Given the description of an element on the screen output the (x, y) to click on. 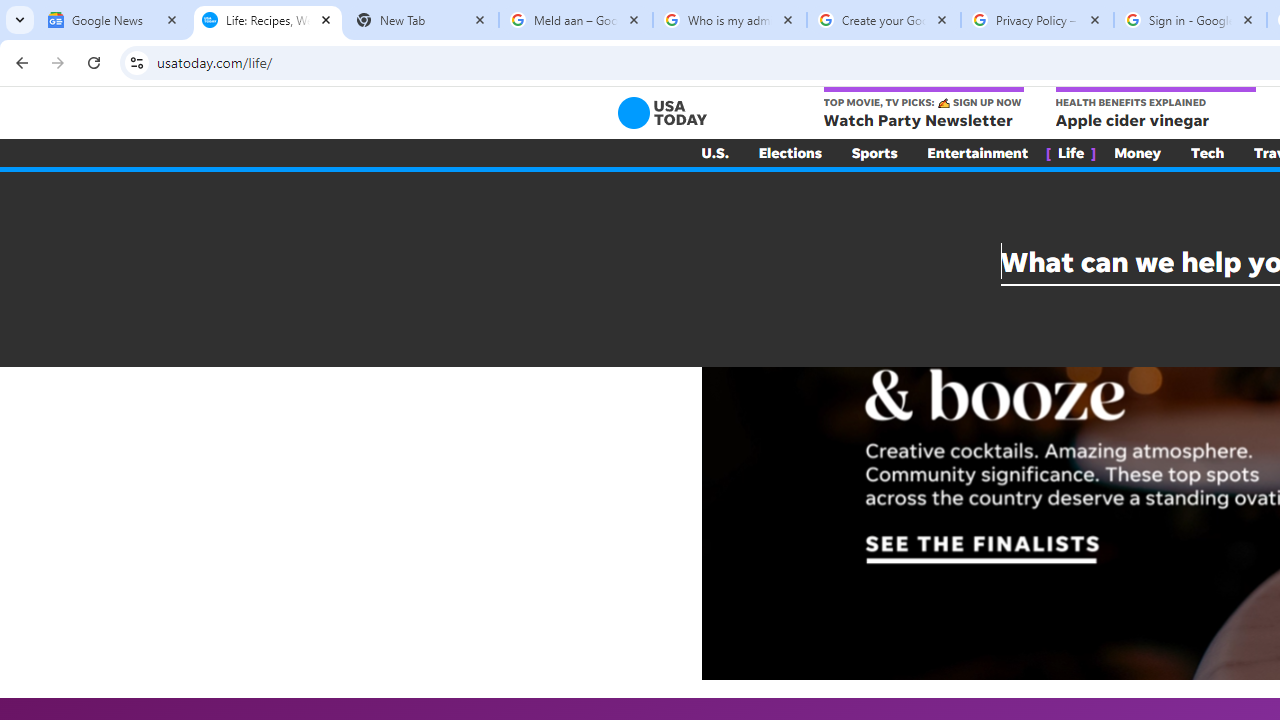
Create your Google Account (883, 20)
HEALTH BENEFITS EXPLAINED Apple cider vinegar (1154, 109)
Who is my administrator? - Google Account Help (729, 20)
